Given the description of an element on the screen output the (x, y) to click on. 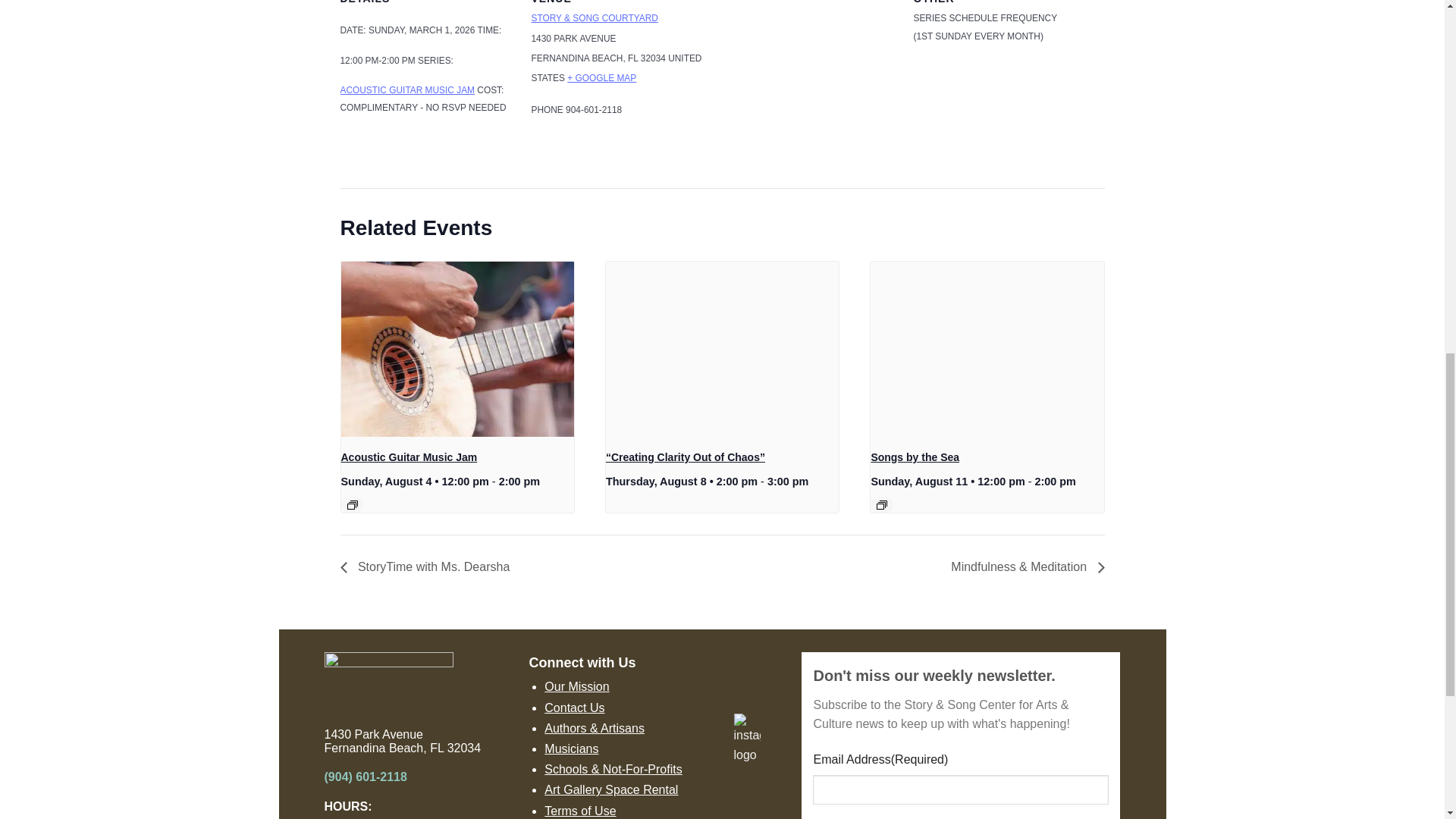
Florida (632, 58)
Acoustic Guitar Music Jam (406, 90)
2026-03-01 (376, 60)
Click to view a Google Map (601, 77)
Event Series (352, 504)
2026-03-01 (421, 30)
